Given the description of an element on the screen output the (x, y) to click on. 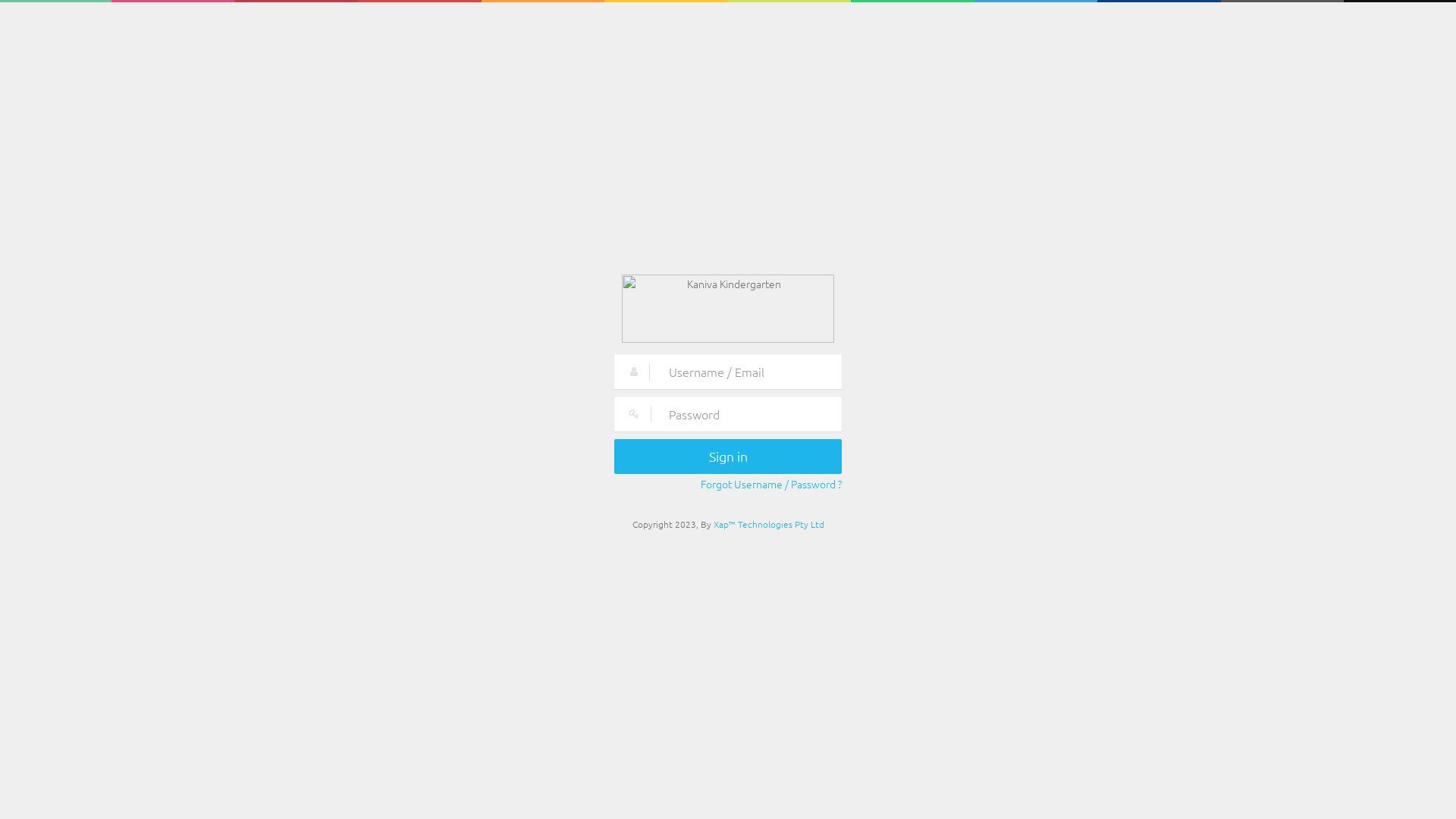
Forgot Username / Password ? Element type: text (770, 483)
Sign in Element type: text (727, 456)
